Given the description of an element on the screen output the (x, y) to click on. 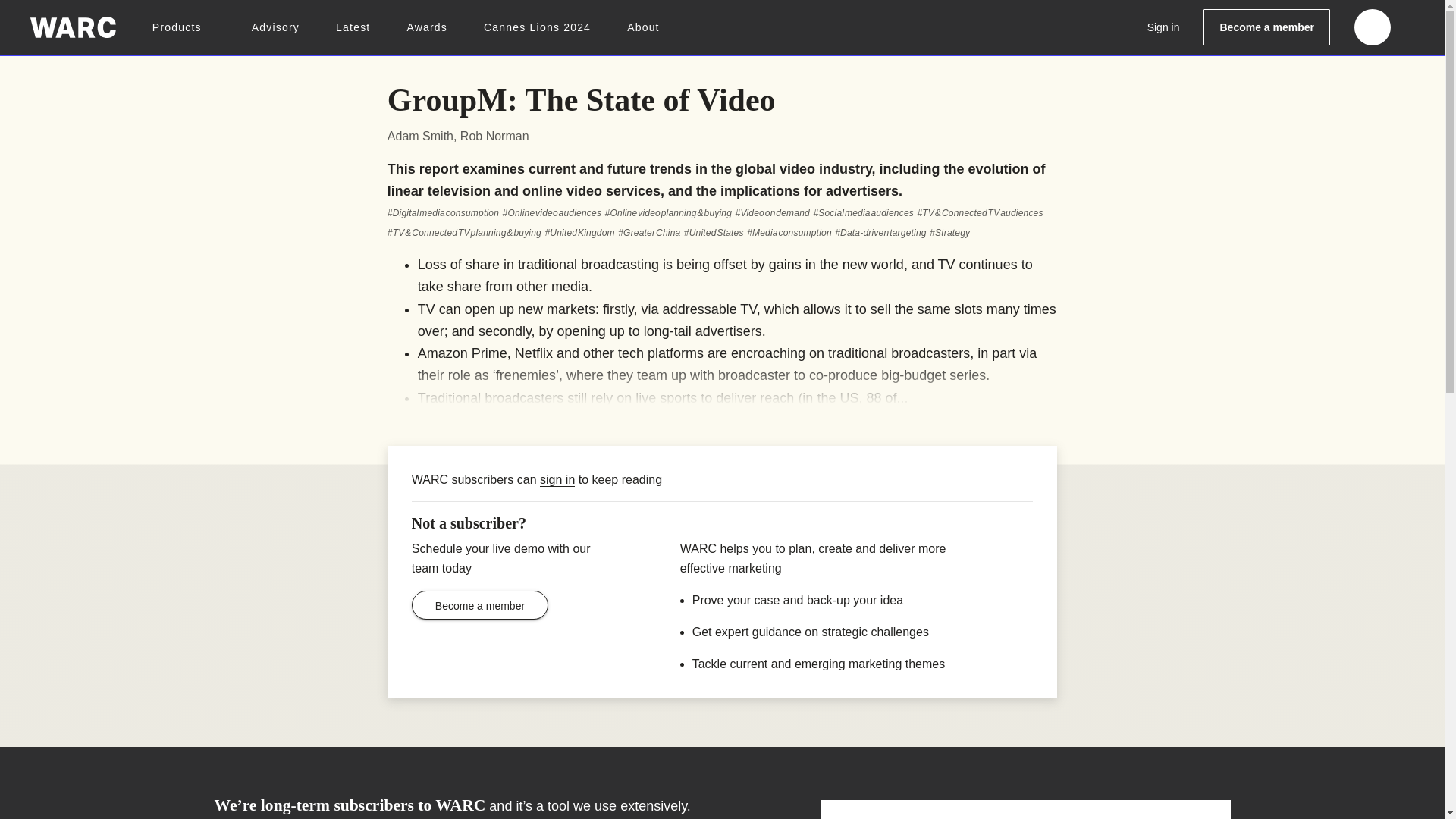
Products (183, 27)
About (643, 27)
Sign in (1163, 27)
Awards (426, 27)
Digital media consumption (443, 213)
Cannes Lions 2024 (537, 27)
Become a member (1267, 27)
Latest (352, 27)
Advisory (275, 27)
